Given the description of an element on the screen output the (x, y) to click on. 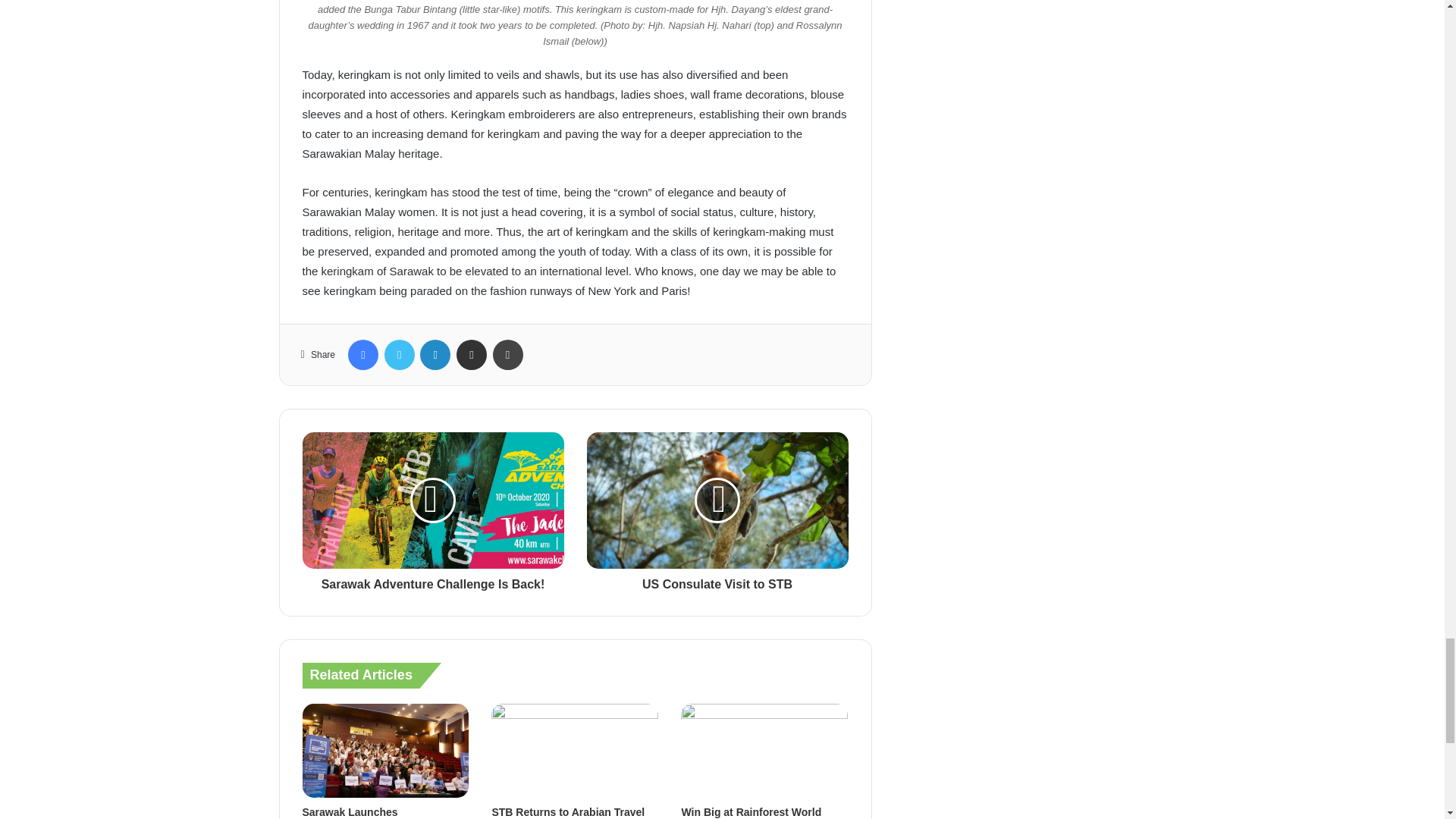
Print (507, 354)
Facebook (362, 354)
Twitter (399, 354)
Twitter (399, 354)
Print (507, 354)
Sarawak Adventure Challenge Is Back! (432, 580)
Share via Email (471, 354)
LinkedIn (434, 354)
LinkedIn (434, 354)
Facebook (362, 354)
Share via Email (471, 354)
US Consulate Visit to STB (717, 580)
